Given the description of an element on the screen output the (x, y) to click on. 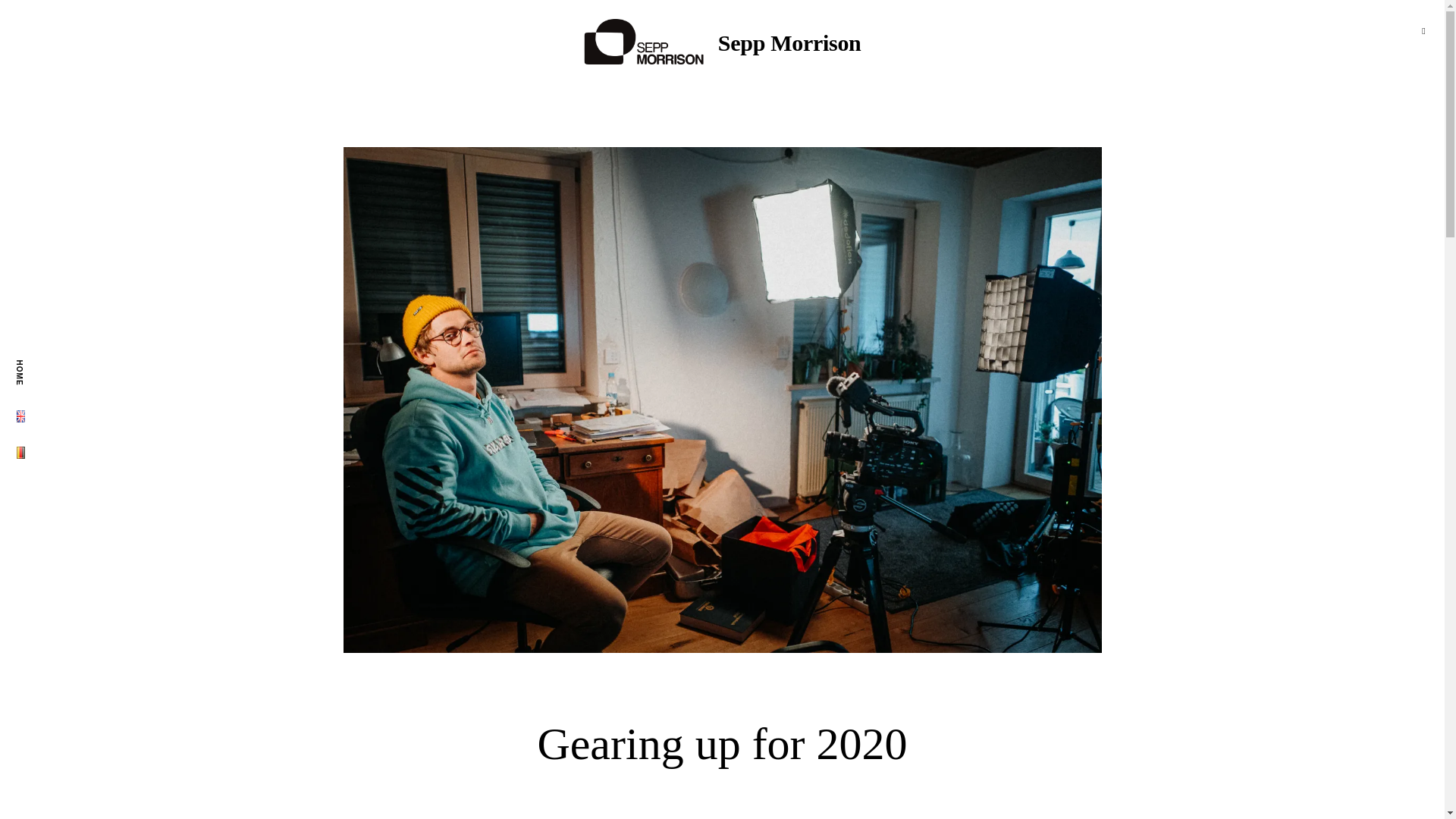
HOME (27, 363)
Sepp Morrison (788, 42)
Search (38, 17)
